Given the description of an element on the screen output the (x, y) to click on. 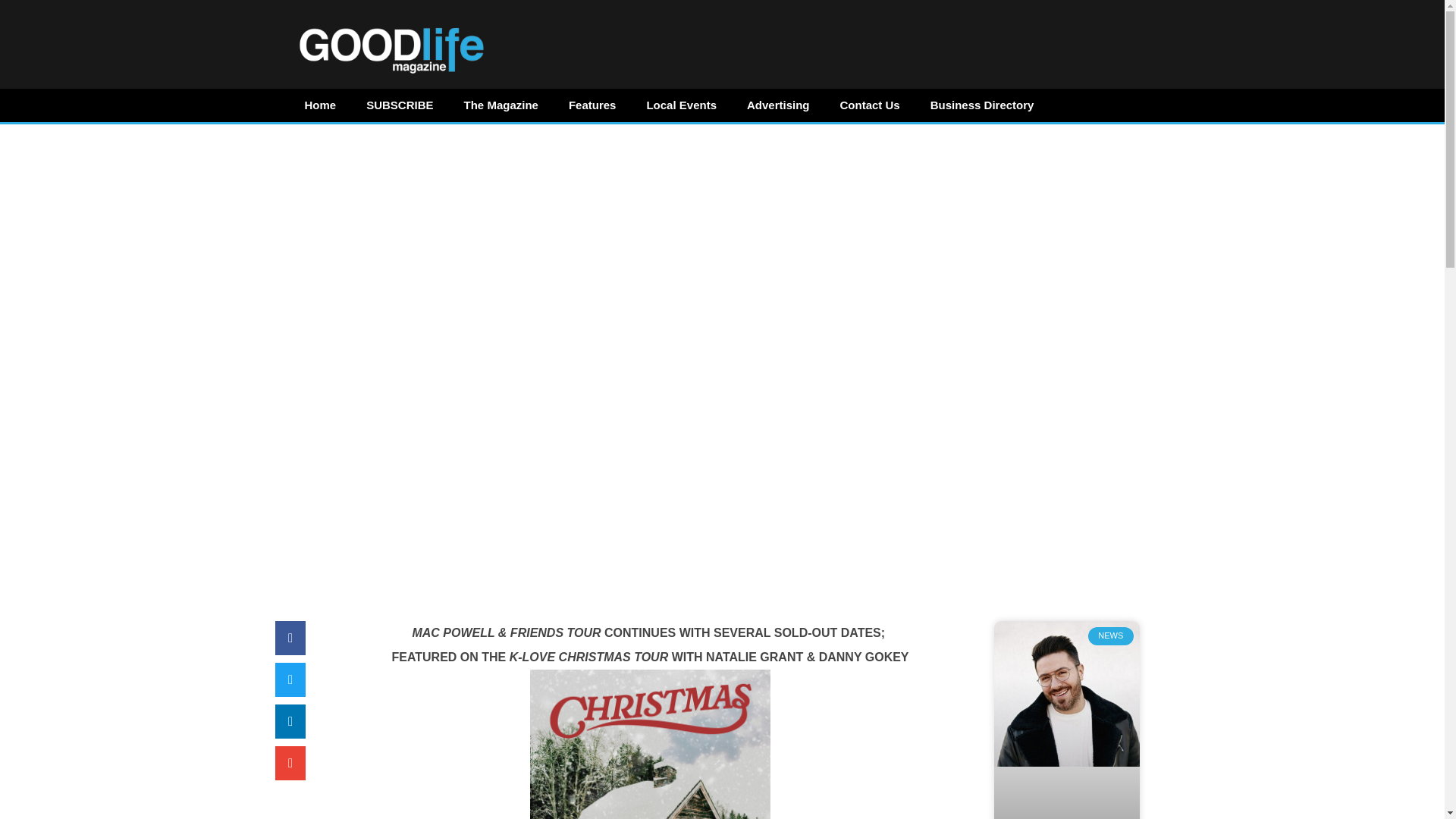
The Magazine (500, 104)
Local Events (681, 104)
Home (320, 104)
Advertising (778, 104)
Business Directory (982, 104)
Features (592, 104)
Contact Us (870, 104)
SUBSCRIBE (399, 104)
